Given the description of an element on the screen output the (x, y) to click on. 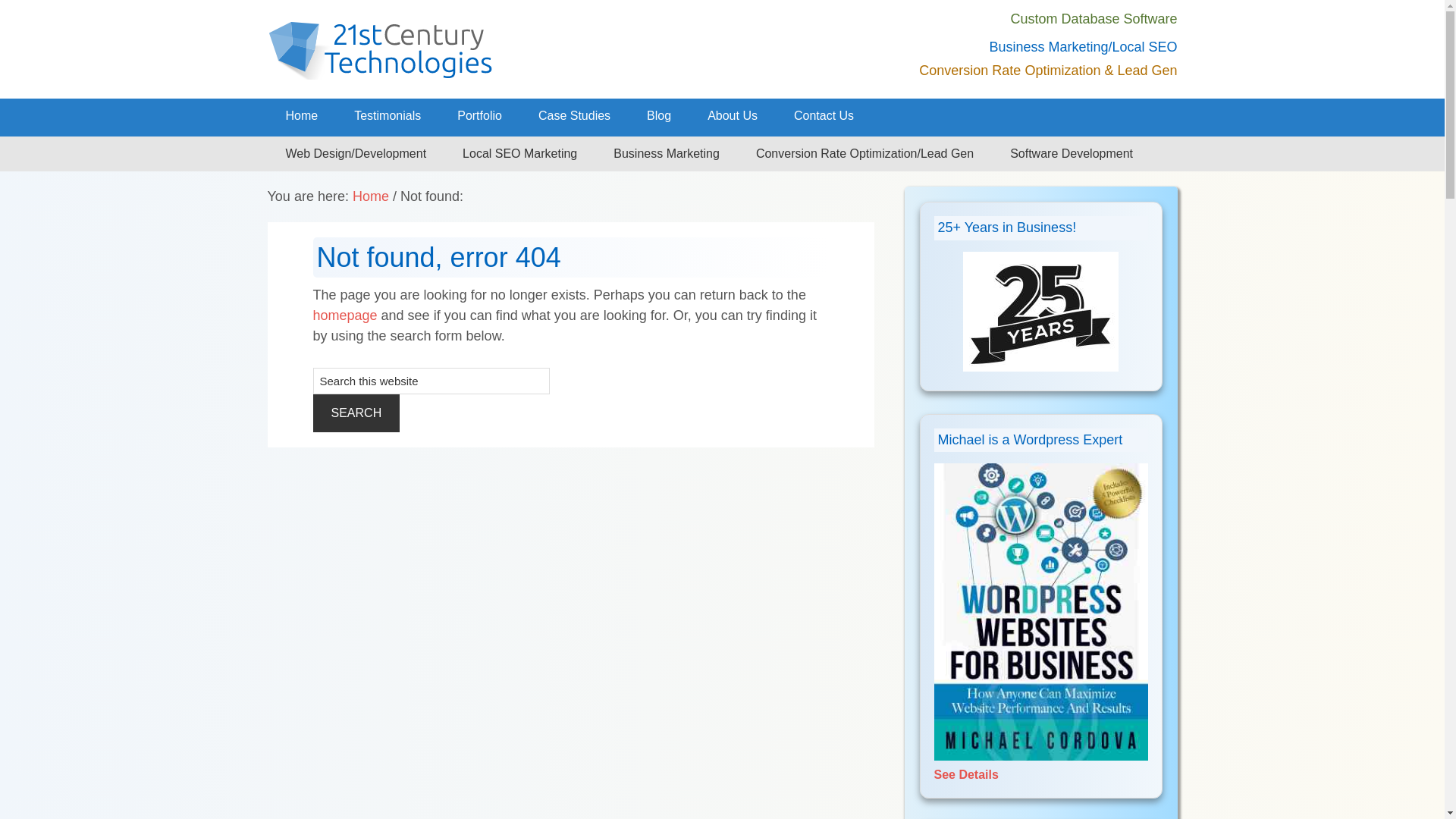
Portfolio Element type: text (479, 115)
25+ Years in Business Element type: hover (1040, 311)
Conversion Rate Optimization & Lead Gen Element type: text (1047, 70)
Search Element type: text (355, 413)
21st Century Technologies, Inc. Element type: text (478, 49)
Case Studies Element type: text (574, 115)
Custom Database Software Element type: text (1093, 18)
Testimonials Element type: text (387, 115)
Home Element type: text (370, 195)
Business Marketing/Local SEO Element type: text (1082, 46)
Home Element type: text (300, 115)
Business Marketing Element type: text (666, 153)
Contact Us Element type: text (823, 115)
Blog Element type: text (658, 115)
Web Design/Development Element type: text (355, 153)
About Us Element type: text (732, 115)
See Details Element type: text (1041, 765)
Software Development Element type: text (1071, 153)
homepage Element type: text (344, 315)
Local SEO Marketing Element type: text (519, 153)
Conversion Rate Optimization/Lead Gen Element type: text (864, 153)
